Given the description of an element on the screen output the (x, y) to click on. 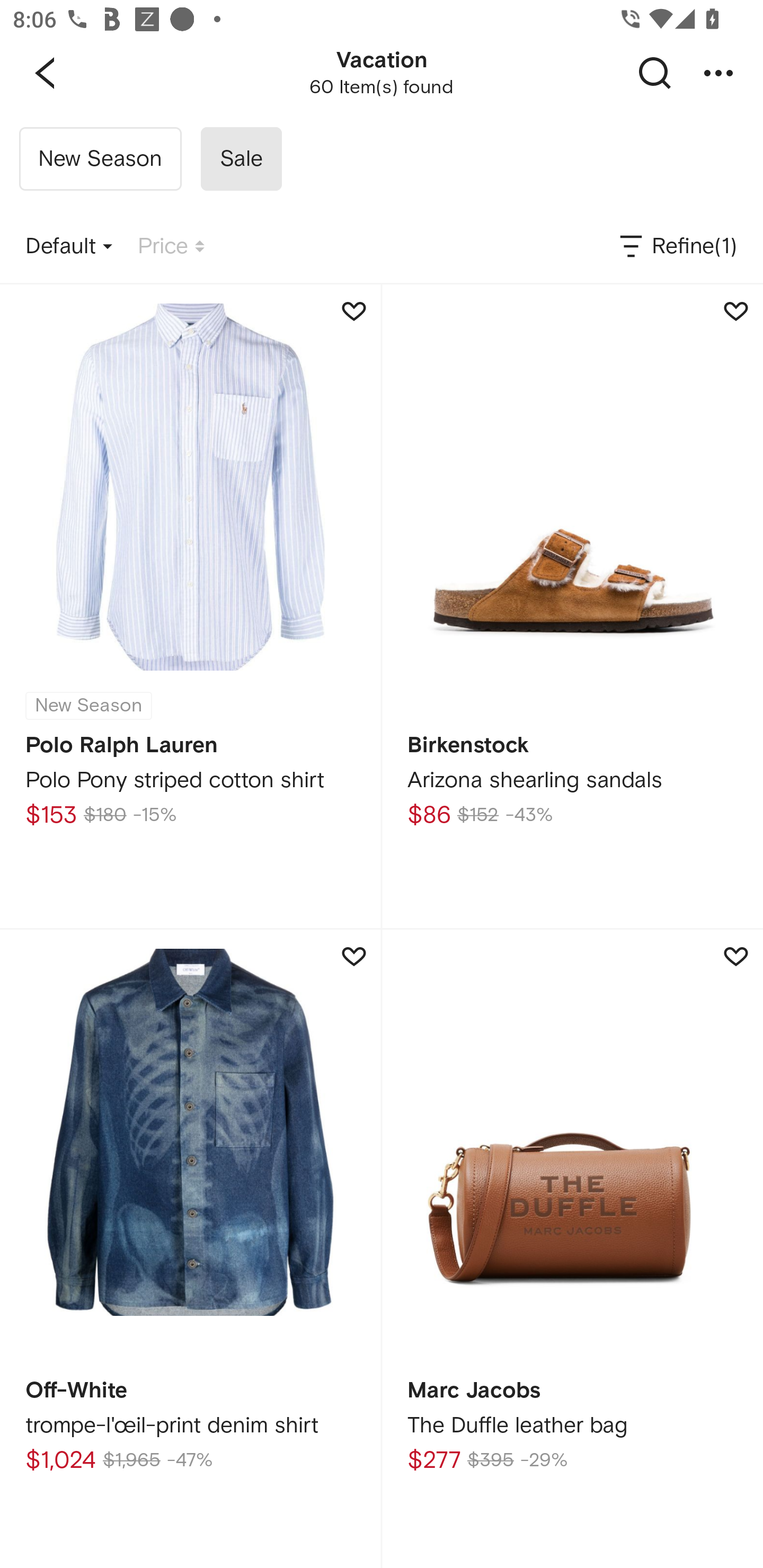
New Season (100, 158)
Sale (240, 158)
Default (68, 246)
Price (171, 246)
Refine(1) (677, 246)
Marc Jacobs The Duffle leather bag $277 $395 -29% (572, 1248)
